Given the description of an element on the screen output the (x, y) to click on. 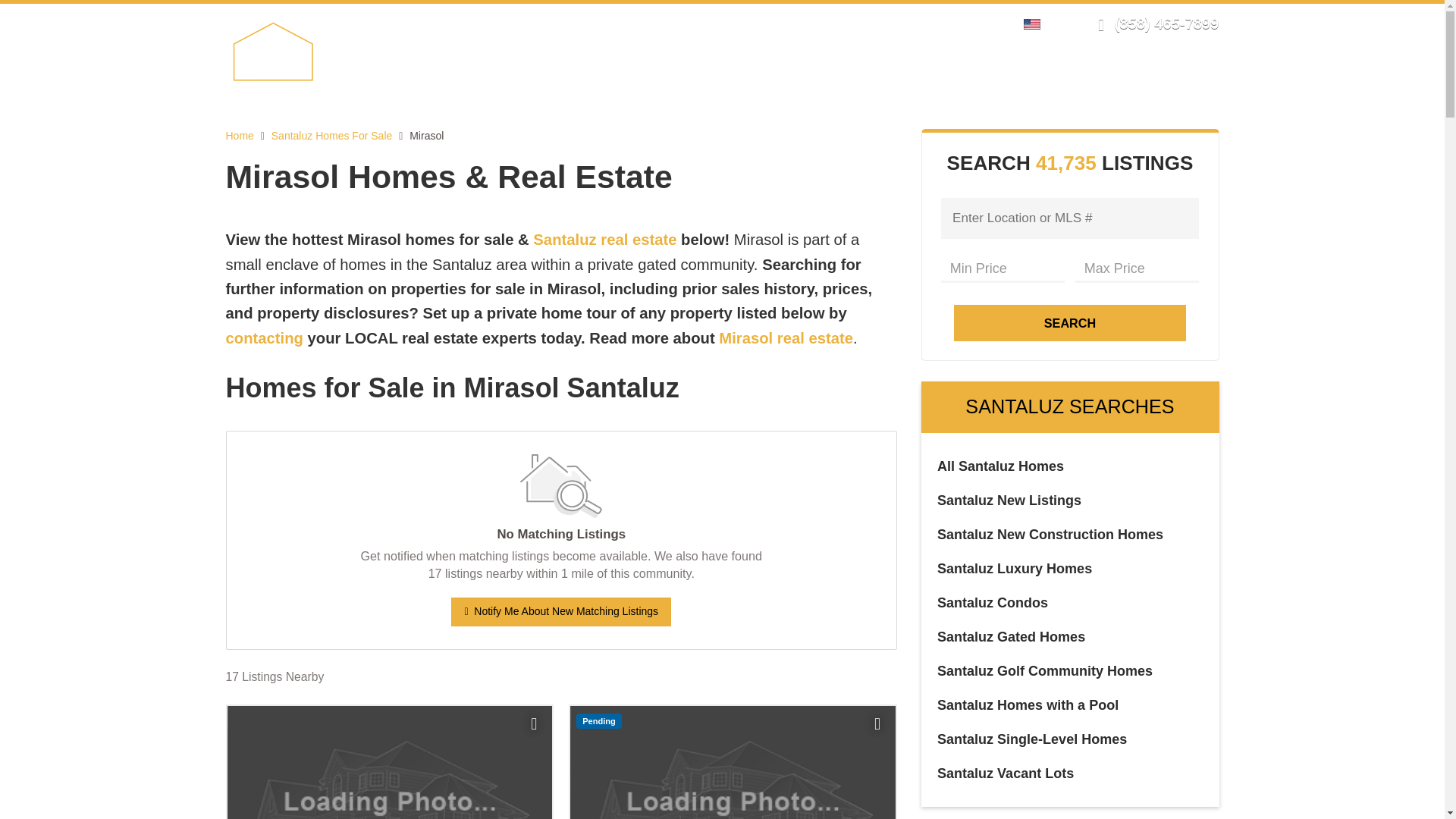
Sell (633, 77)
Browse Communities (795, 77)
Homes for Sale in Mirasol Santaluz (561, 388)
Register (948, 23)
Login (900, 23)
Home Page (307, 50)
Buy (685, 77)
Select Language (1035, 23)
